Given the description of an element on the screen output the (x, y) to click on. 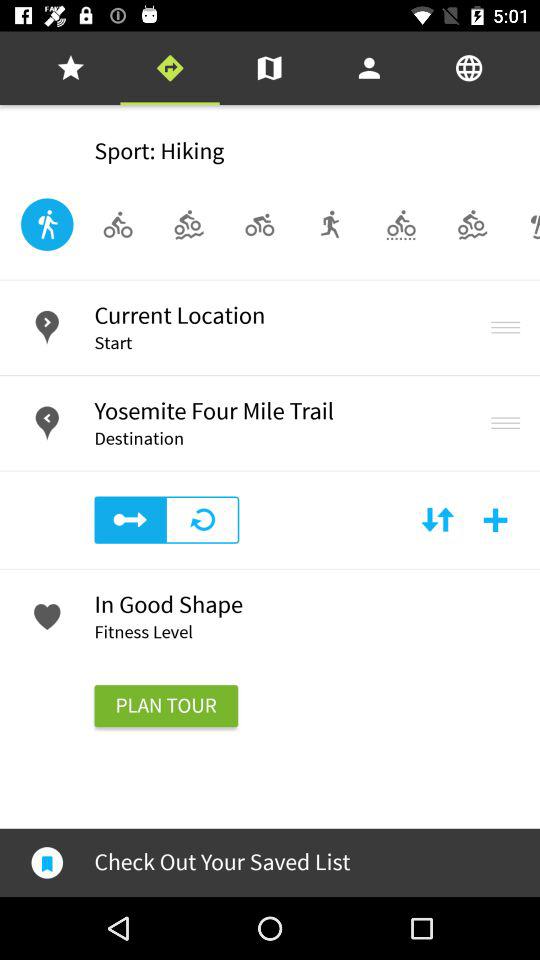
flip until plan tour icon (166, 706)
